Given the description of an element on the screen output the (x, y) to click on. 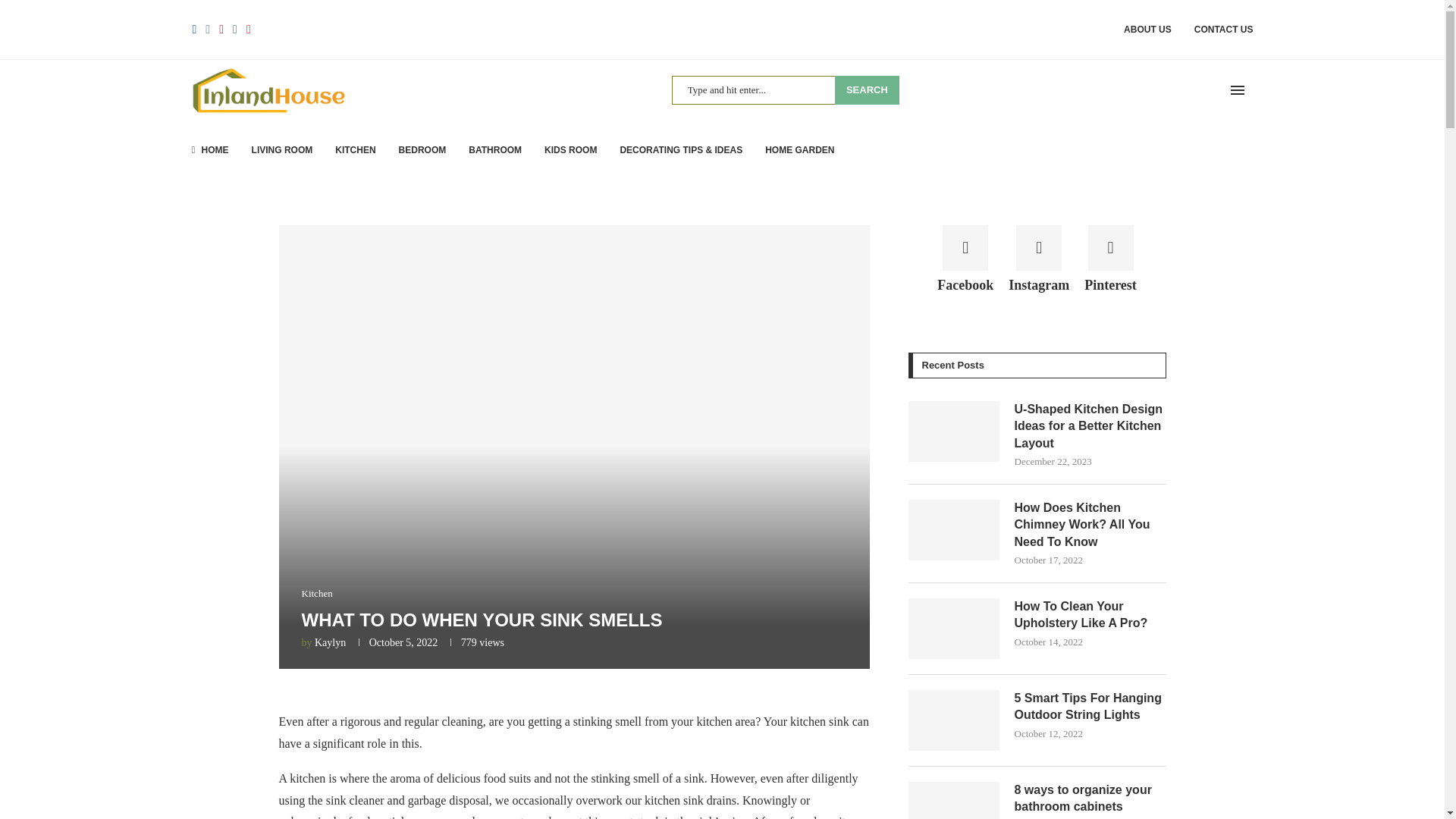
SEARCH (866, 90)
HOME GARDEN (799, 149)
BATHROOM (494, 149)
Type and hit enter... (785, 90)
BEDROOM (422, 149)
LIVING ROOM (282, 149)
KIDS ROOM (570, 149)
ABOUT US (1148, 29)
KITCHEN (354, 149)
CONTACT US (1223, 29)
